Given the description of an element on the screen output the (x, y) to click on. 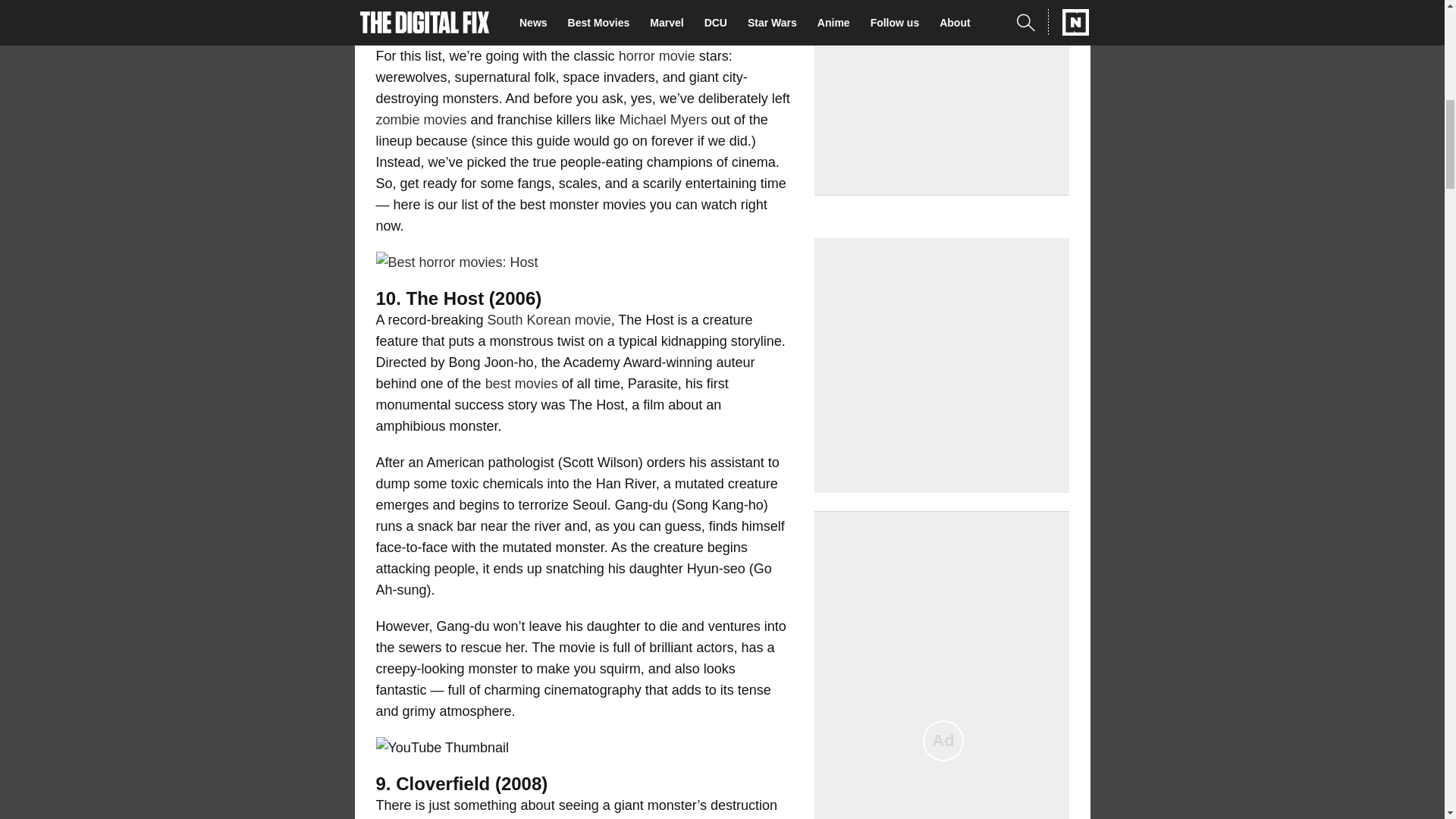
Michael Myers (663, 119)
zombie movies (421, 119)
horror movie (656, 55)
best movies (520, 383)
South Korean movie (549, 319)
